Given the description of an element on the screen output the (x, y) to click on. 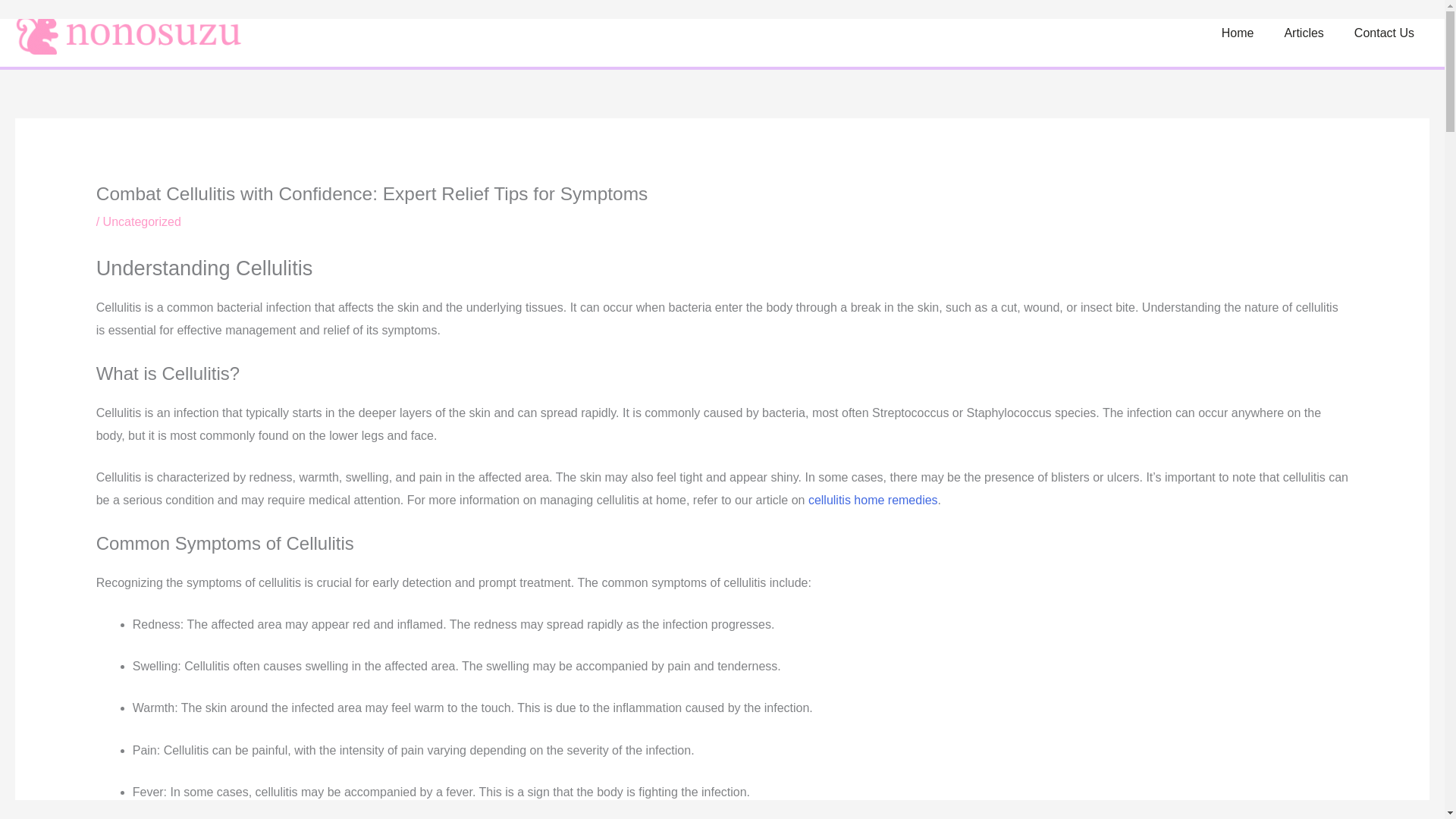
cellulitis home remedies (872, 499)
Uncategorized (141, 221)
Articles (1303, 33)
Home (1238, 33)
Contact Us (1384, 33)
